Given the description of an element on the screen output the (x, y) to click on. 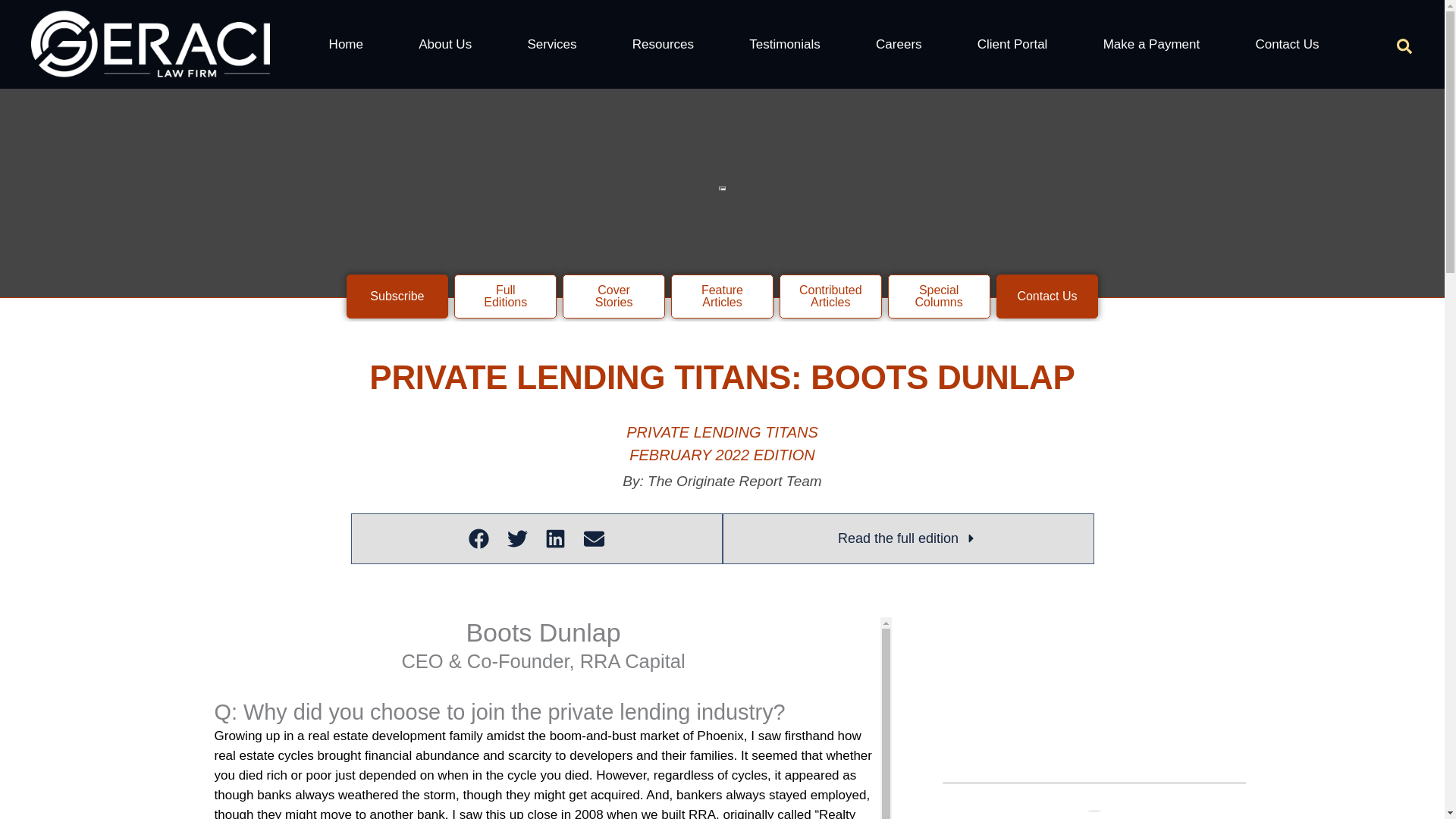
Contact Us (1286, 44)
Resources (663, 44)
Home (346, 44)
Make a Payment (1151, 44)
Client Portal (1012, 44)
Testimonials (785, 44)
Services (551, 44)
About Us (445, 44)
Careers (898, 44)
